Given the description of an element on the screen output the (x, y) to click on. 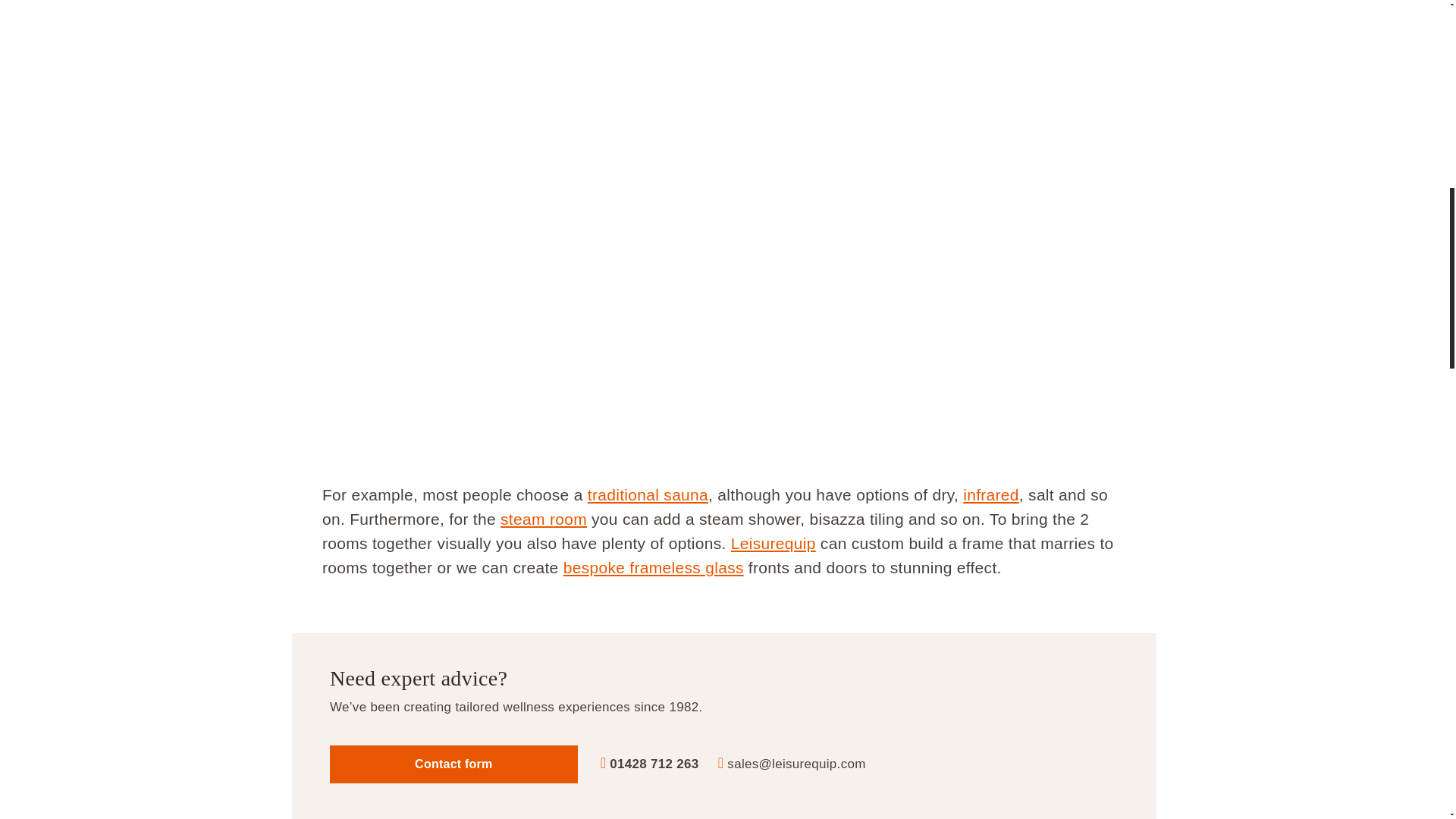
Send us an email (795, 763)
